Given the description of an element on the screen output the (x, y) to click on. 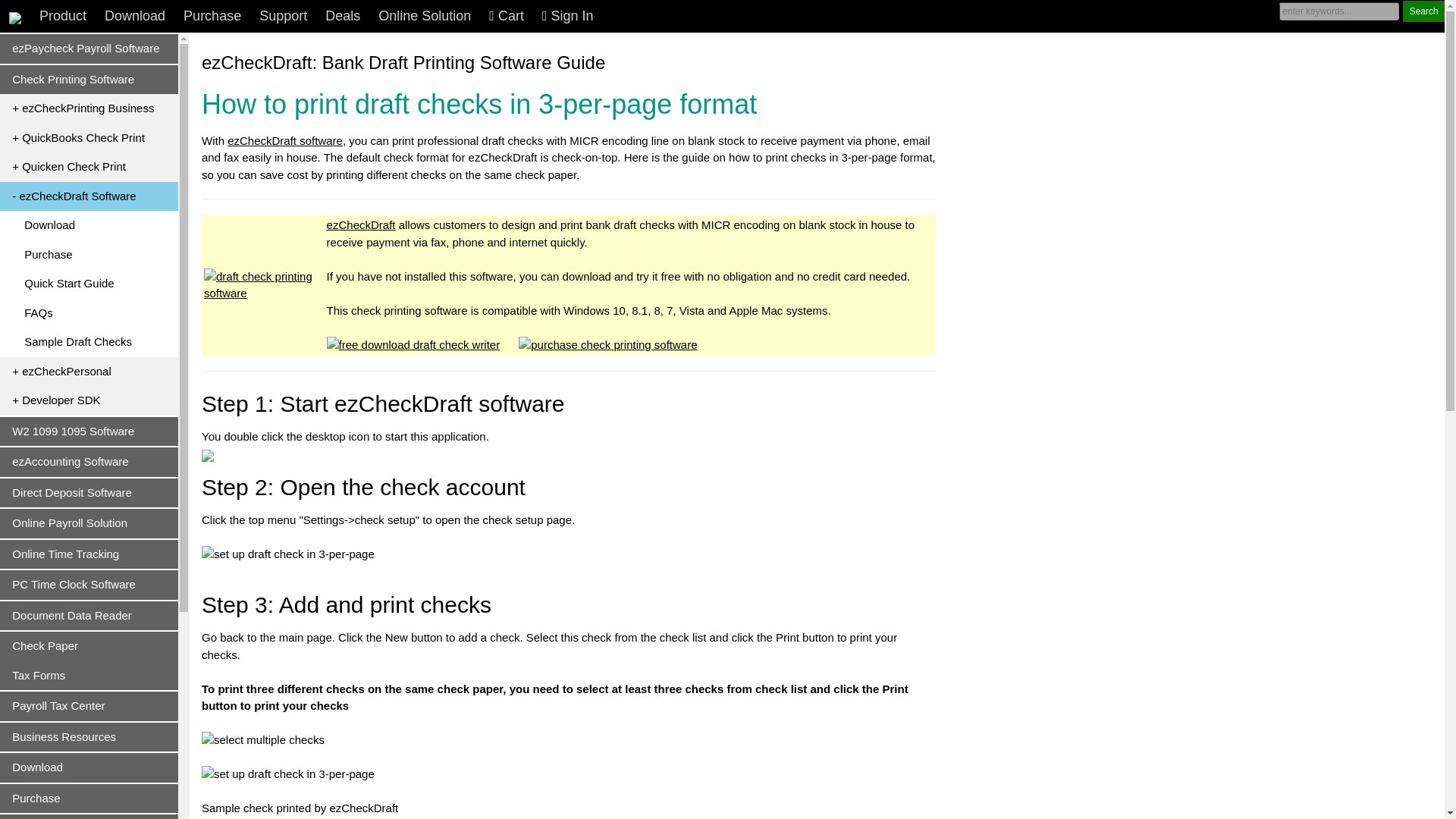
Document Data Reader (88, 615)
ezAccounting Software (88, 461)
Online Solution (424, 16)
payroll software (88, 48)
Purchase (212, 16)
Direct Deposit Software (88, 492)
Download (135, 16)
Sign in customer account (567, 16)
oline payroll and time tracking solution (424, 16)
download draft check writer software (88, 225)
